Given the description of an element on the screen output the (x, y) to click on. 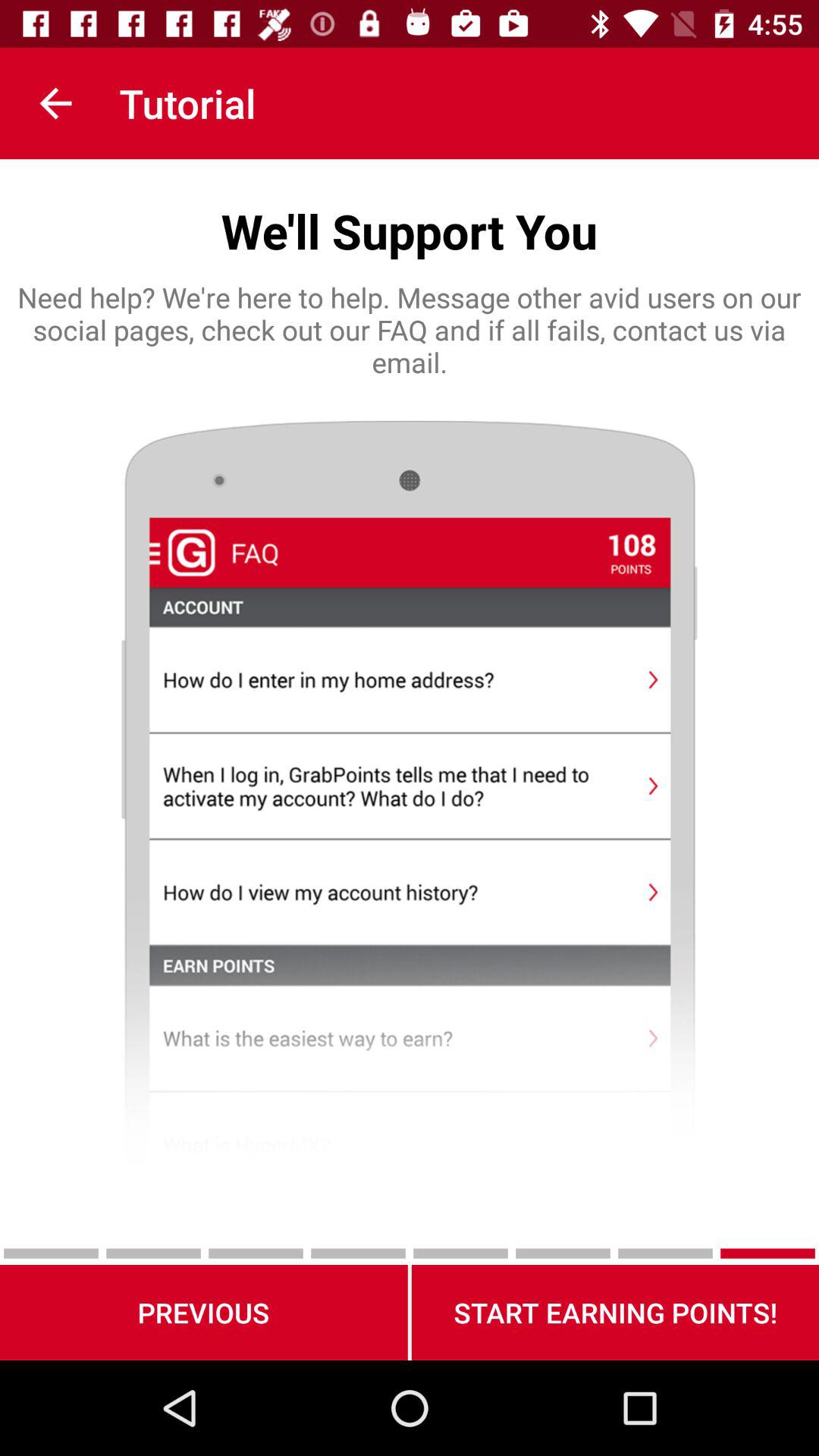
select the start earning points! item (615, 1312)
